Given the description of an element on the screen output the (x, y) to click on. 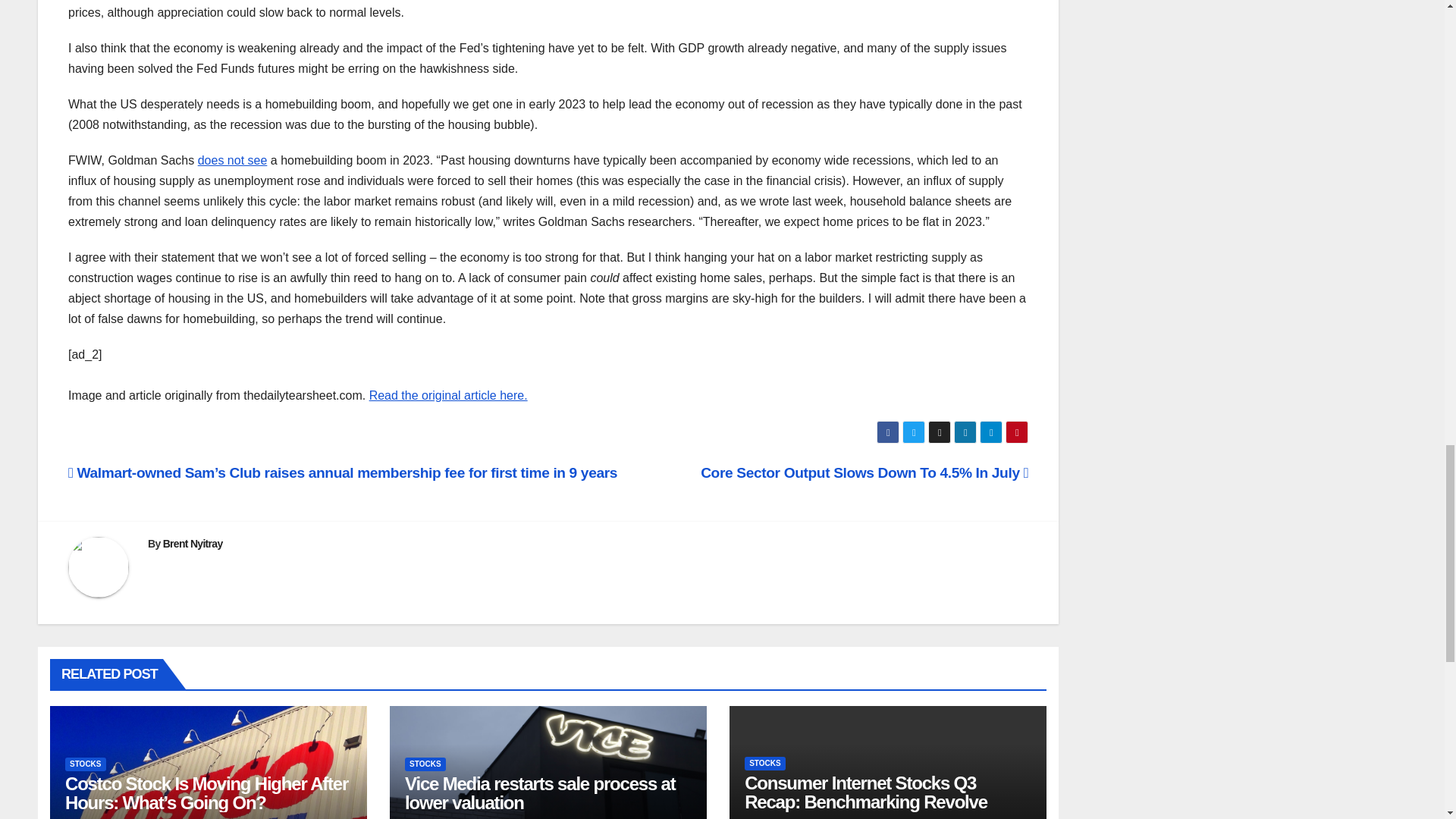
STOCKS (424, 764)
STOCKS (85, 764)
Brent Nyitray (192, 543)
STOCKS (765, 763)
does not see (232, 160)
Read the original article here. (448, 395)
Vice Media restarts sale process at lower valuation (539, 793)
